Given the description of an element on the screen output the (x, y) to click on. 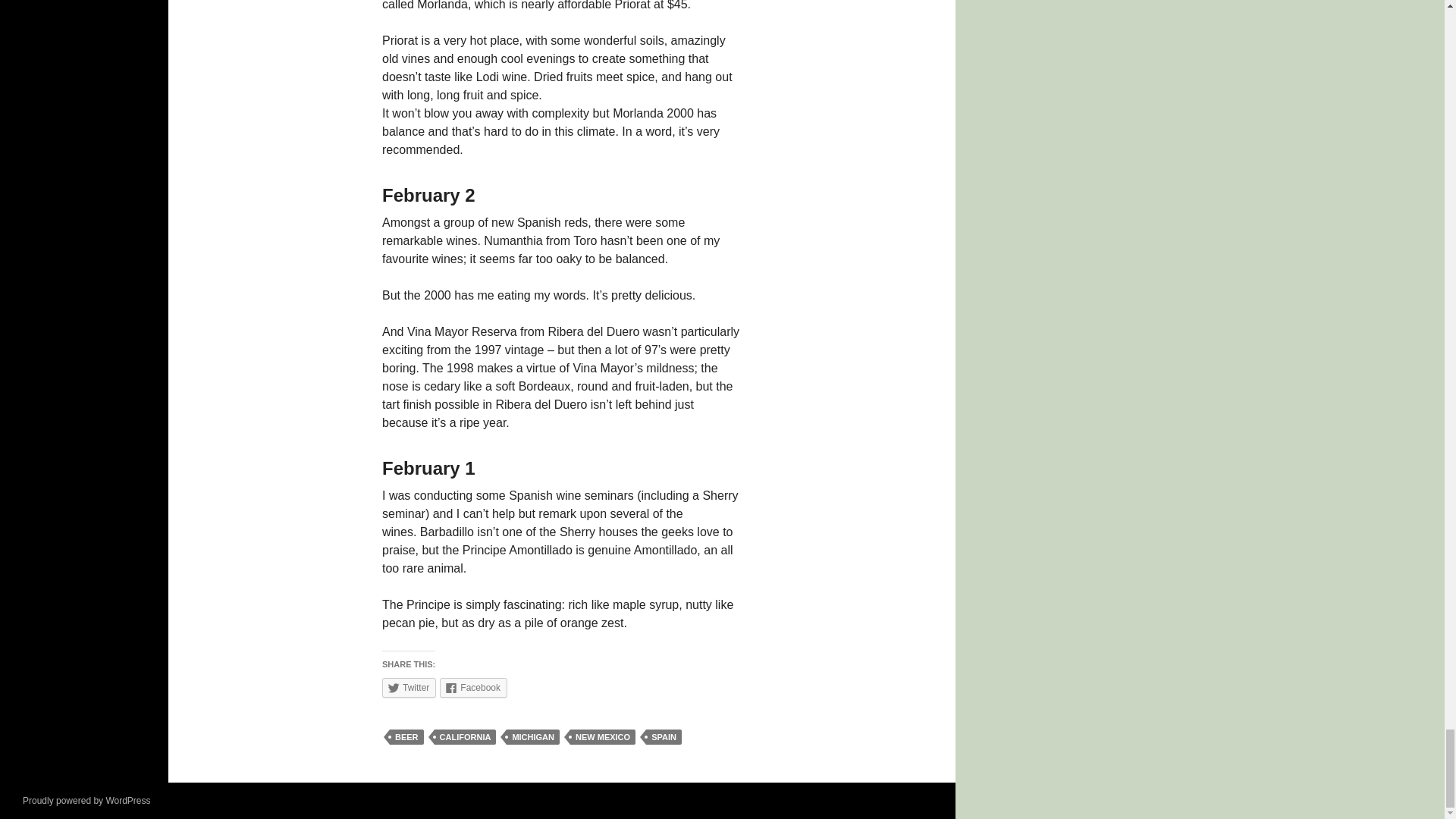
BEER (406, 736)
CALIFORNIA (464, 736)
MICHIGAN (532, 736)
Click to share on Facebook (472, 687)
SPAIN (663, 736)
NEW MEXICO (602, 736)
Click to share on Twitter (408, 687)
Twitter (408, 687)
Facebook (472, 687)
